Given the description of an element on the screen output the (x, y) to click on. 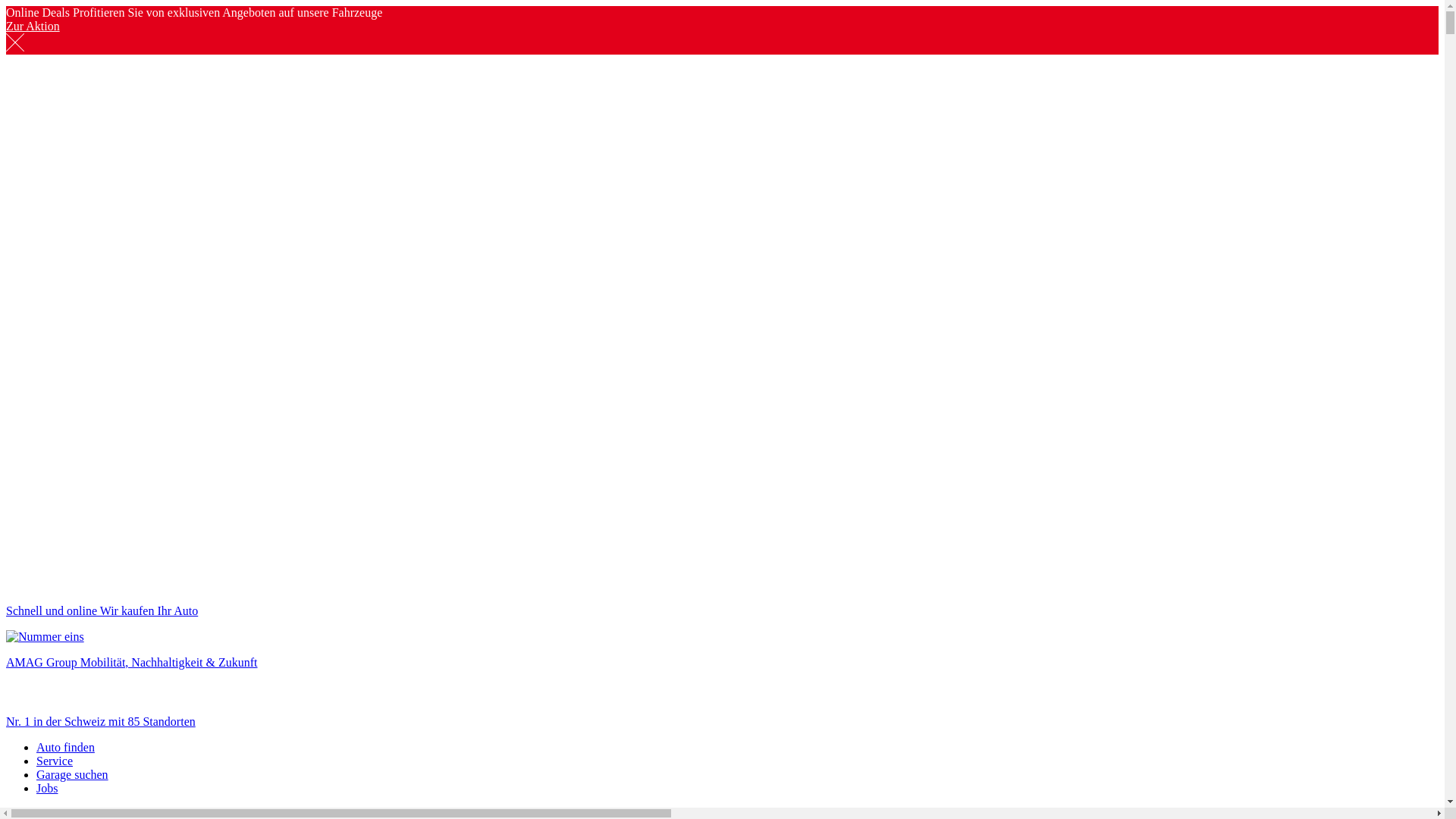
Zur Aktion Element type: text (32, 25)
Garage suchen Element type: text (72, 774)
Auto finden Element type: text (65, 746)
Nr. 1 in der Schweiz mit 85 Standorten Element type: text (722, 708)
Service Element type: text (54, 760)
Jobs Element type: text (46, 787)
Schnell und online Wir kaufen Ihr Auto Element type: text (722, 598)
